Given the description of an element on the screen output the (x, y) to click on. 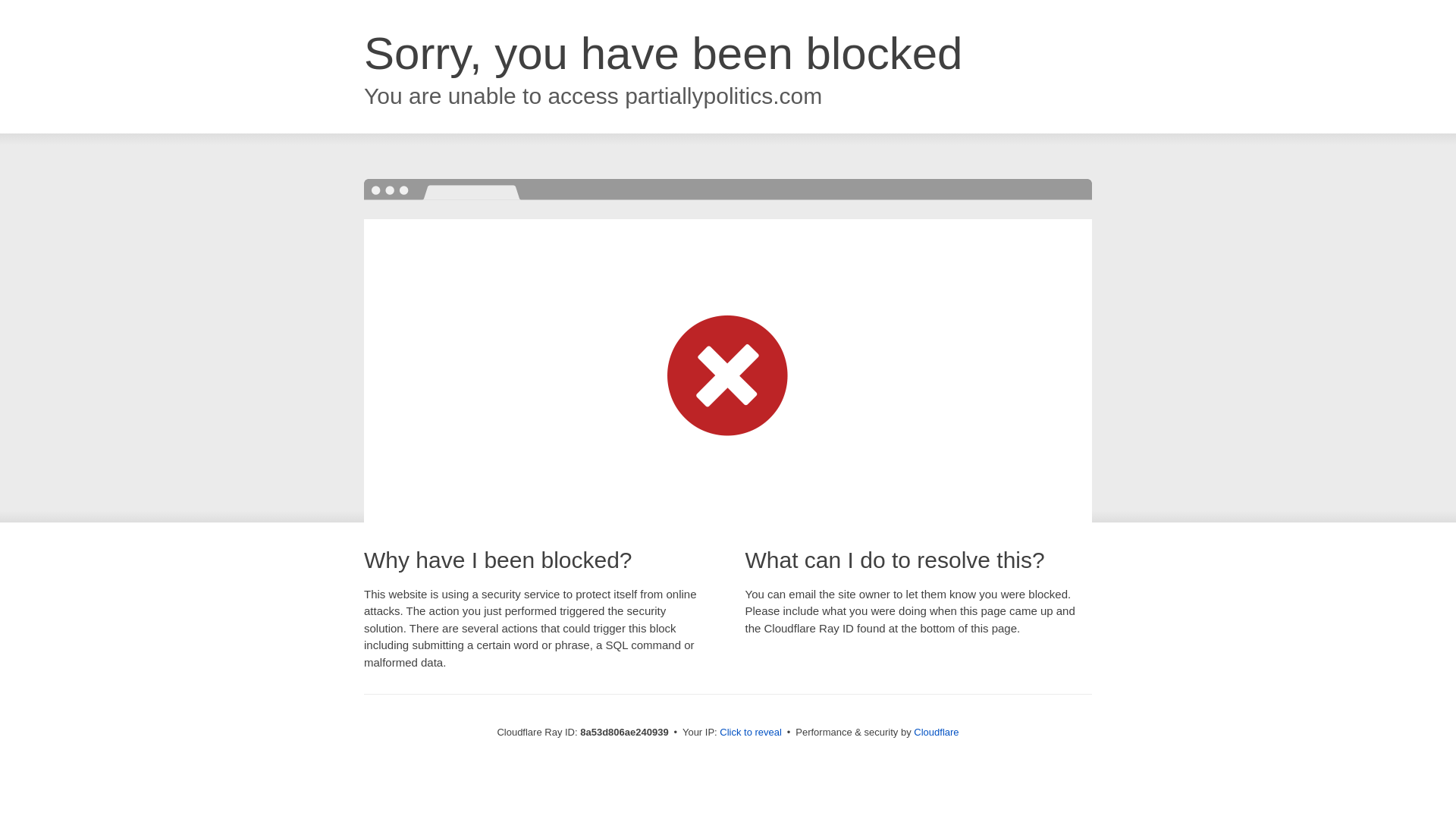
Click to reveal (750, 732)
Cloudflare (936, 731)
